Given the description of an element on the screen output the (x, y) to click on. 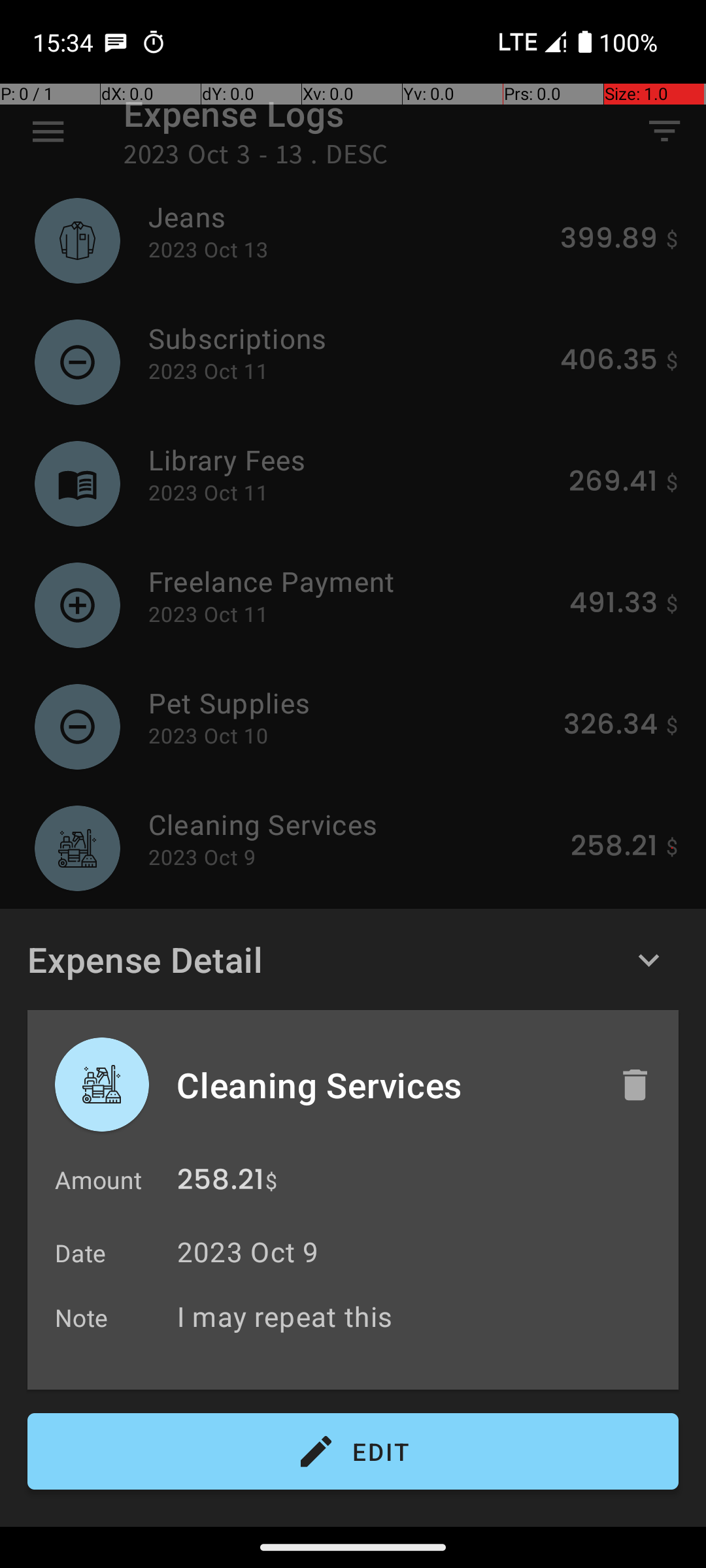
Cleaning Services Element type: android.widget.TextView (383, 1084)
258.21 Element type: android.widget.TextView (220, 1182)
SMS Messenger notification: +15785288010 Element type: android.widget.ImageView (115, 41)
